Given the description of an element on the screen output the (x, y) to click on. 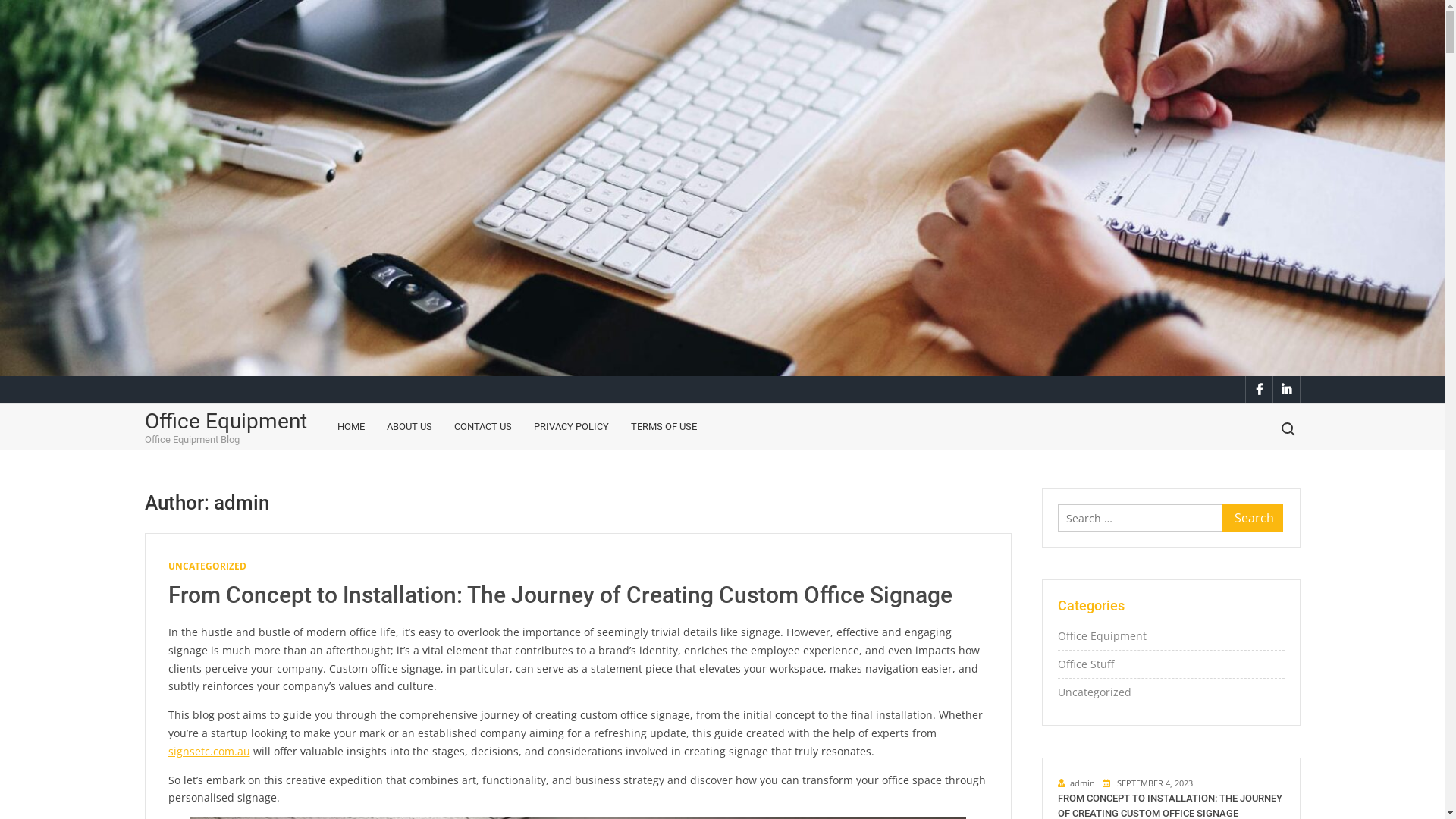
HOME Element type: text (351, 426)
ABOUT US Element type: text (408, 426)
TERMS OF USE Element type: text (662, 426)
Office Stuff Element type: text (1085, 664)
Search Element type: text (1252, 517)
signsetc.com.au Element type: text (209, 750)
CONTACT US Element type: text (482, 426)
Office Equipment Element type: text (1101, 636)
admin Element type: text (1075, 782)
PRIVACY POLICY Element type: text (570, 426)
UNCATEGORIZED Element type: text (207, 566)
Search for: Element type: text (1286, 429)
linkedin Element type: text (1285, 389)
facebook Element type: text (1258, 389)
SEPTEMBER 4, 2023 Element type: text (1147, 782)
Office Equipment Element type: text (225, 420)
Uncategorized Element type: text (1093, 692)
